Given the description of an element on the screen output the (x, y) to click on. 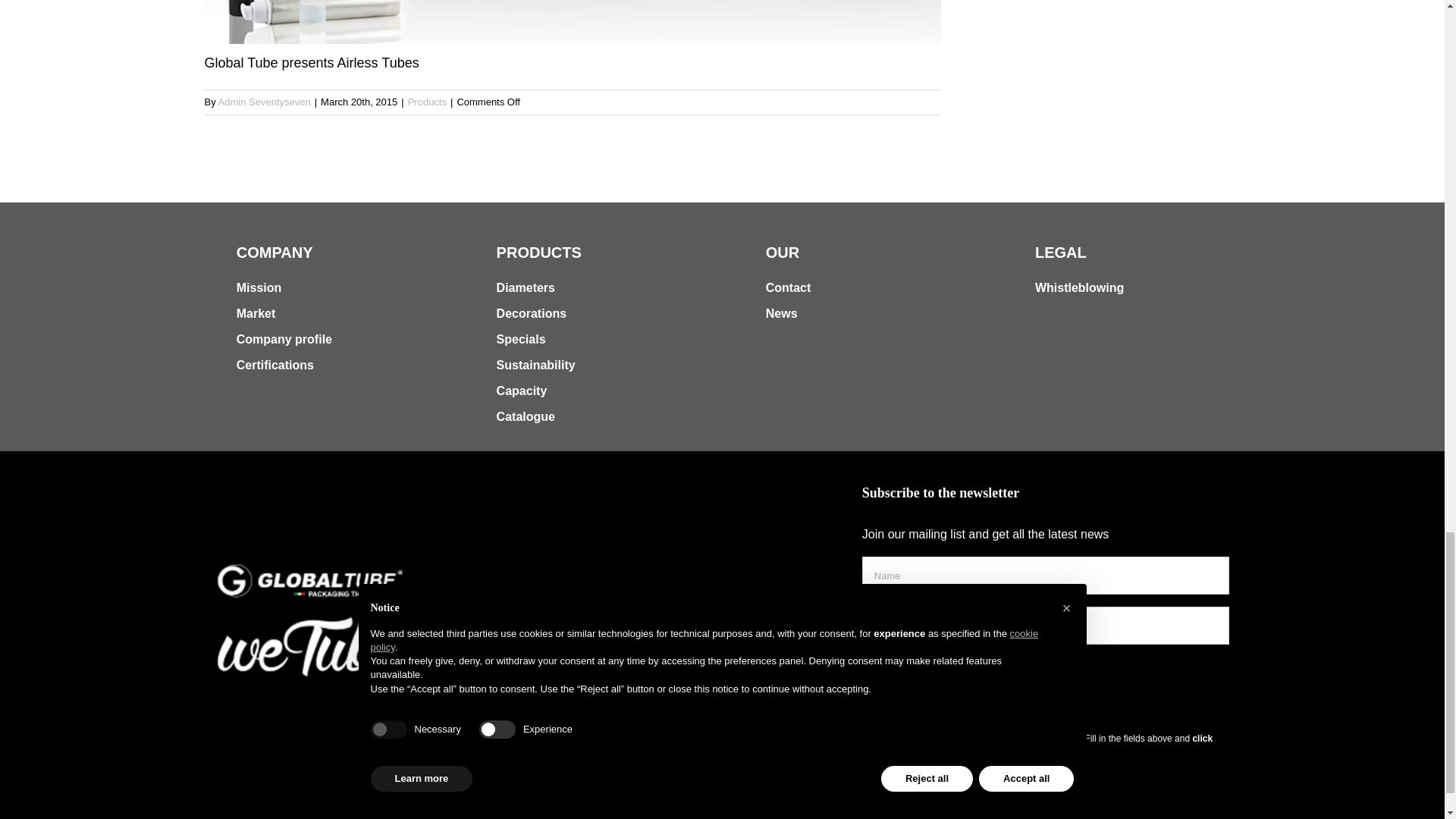
1 (869, 665)
2-1 (573, 21)
Global Tube presents Airless Tubes (573, 37)
Send (900, 701)
Posts by Admin Seventyseven (264, 101)
